Given the description of an element on the screen output the (x, y) to click on. 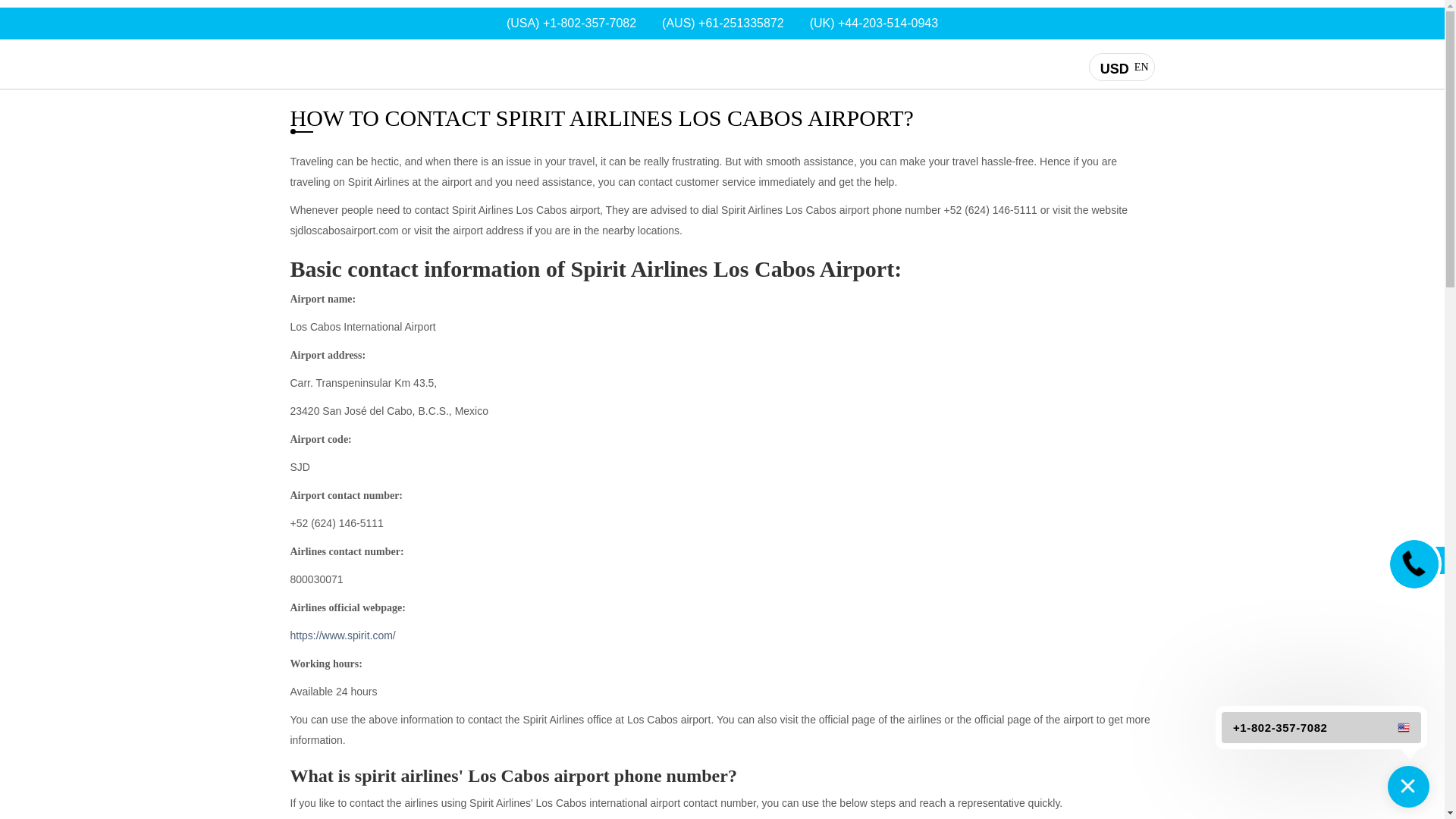
SAVE (1121, 68)
Home (991, 379)
CANCEL (303, 61)
